Given the description of an element on the screen output the (x, y) to click on. 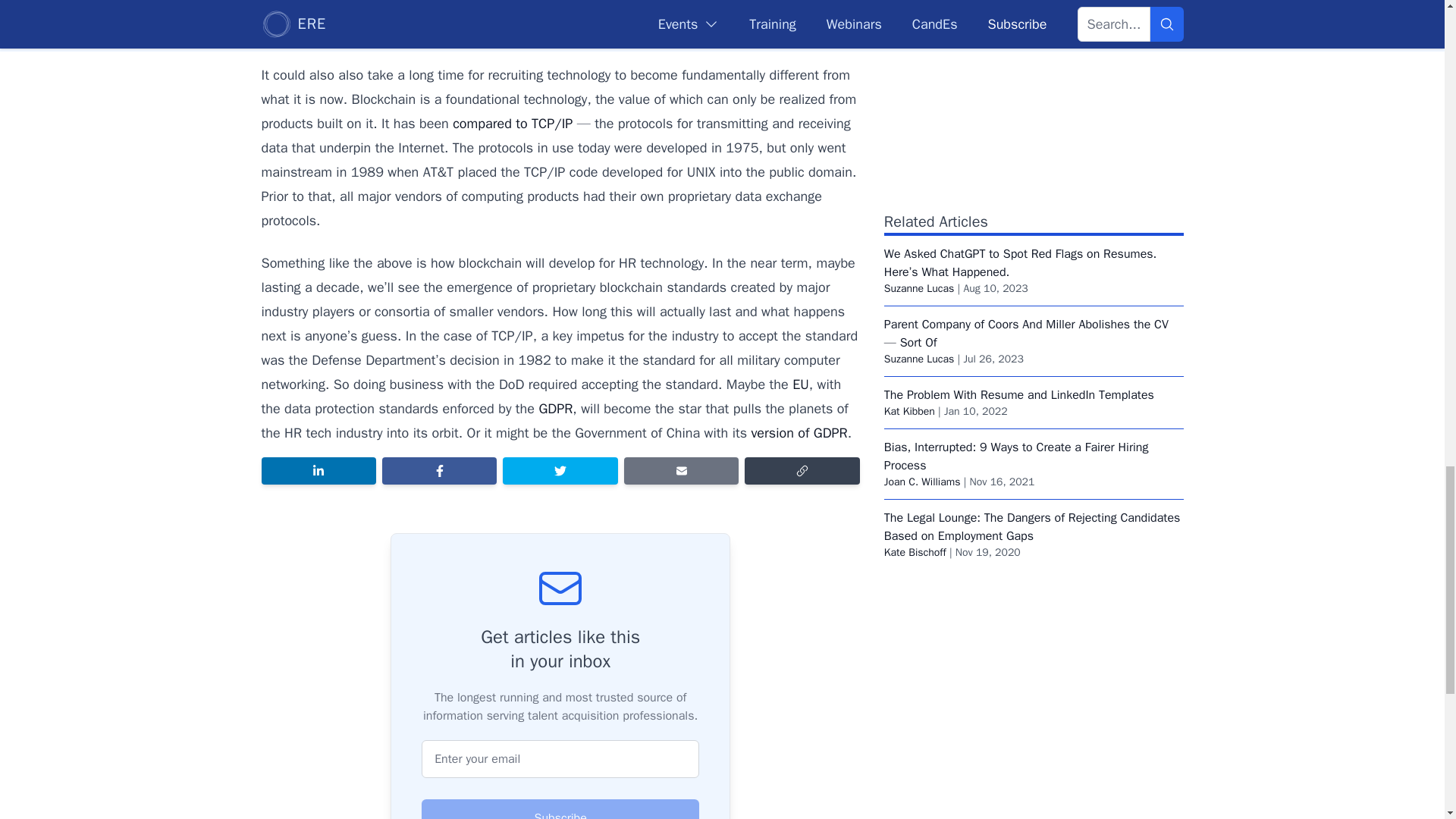
Suzanne Lucas (919, 358)
Kat Kibben (908, 410)
Kate Bischoff (914, 552)
EU (800, 384)
Joan C. Williams (921, 481)
The Problem With Resume and LinkedIn Templates (1018, 394)
version of GDPR (799, 433)
Suzanne Lucas (919, 287)
Subscribe (560, 809)
Bias, Interrupted: 9 Ways to Create a Fairer Hiring Process (1015, 456)
GDPR (555, 408)
